Given the description of an element on the screen output the (x, y) to click on. 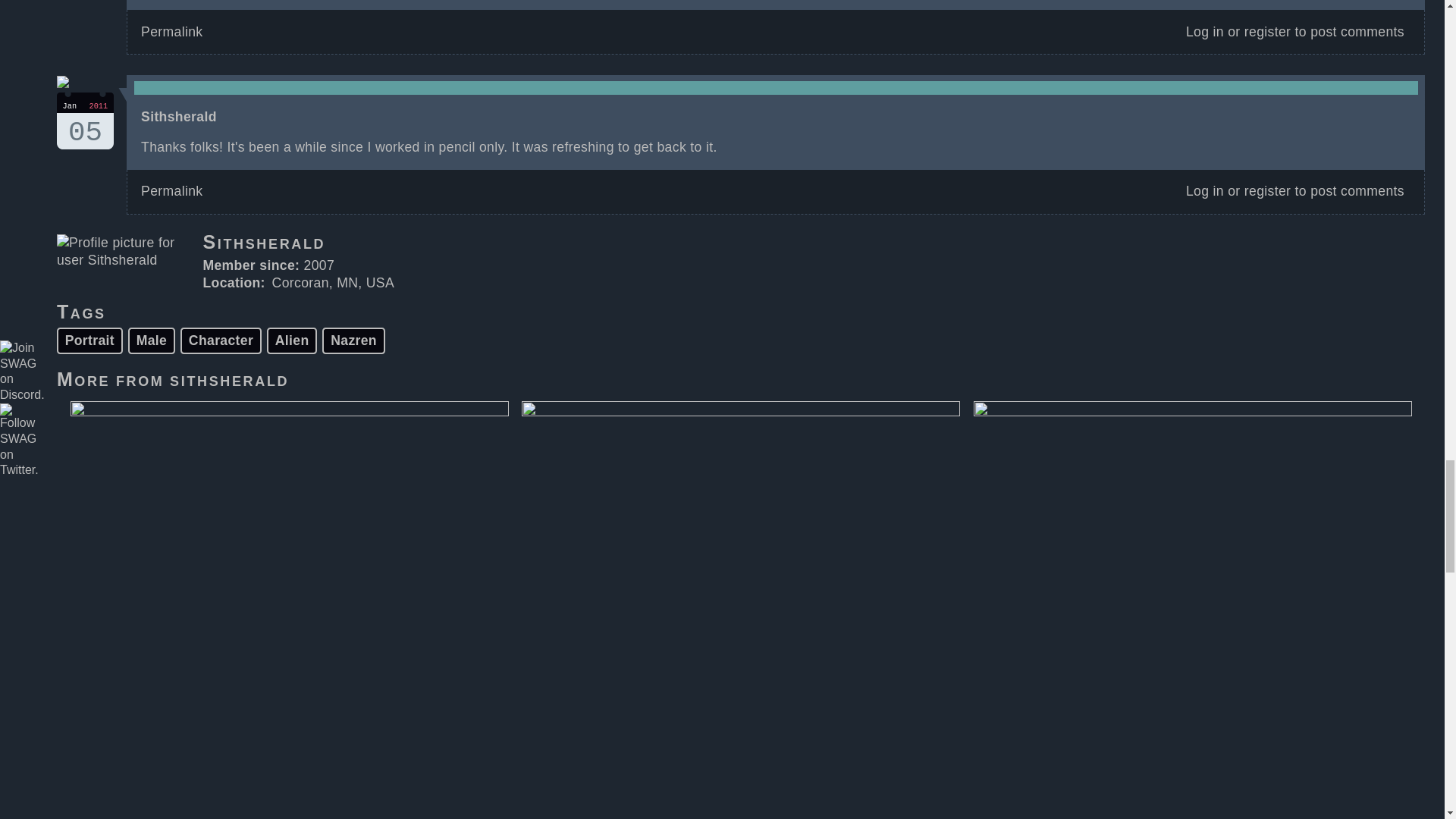
Log in (1205, 31)
Portrait (90, 340)
View user profile. (229, 378)
Male (151, 340)
Sithsherald (229, 378)
Sithsherald (813, 246)
register (1267, 31)
Character (221, 340)
View user profile. (84, 120)
Nazren (178, 116)
register (353, 340)
Alien (1267, 191)
Permalink (291, 340)
Log in (171, 31)
